Given the description of an element on the screen output the (x, y) to click on. 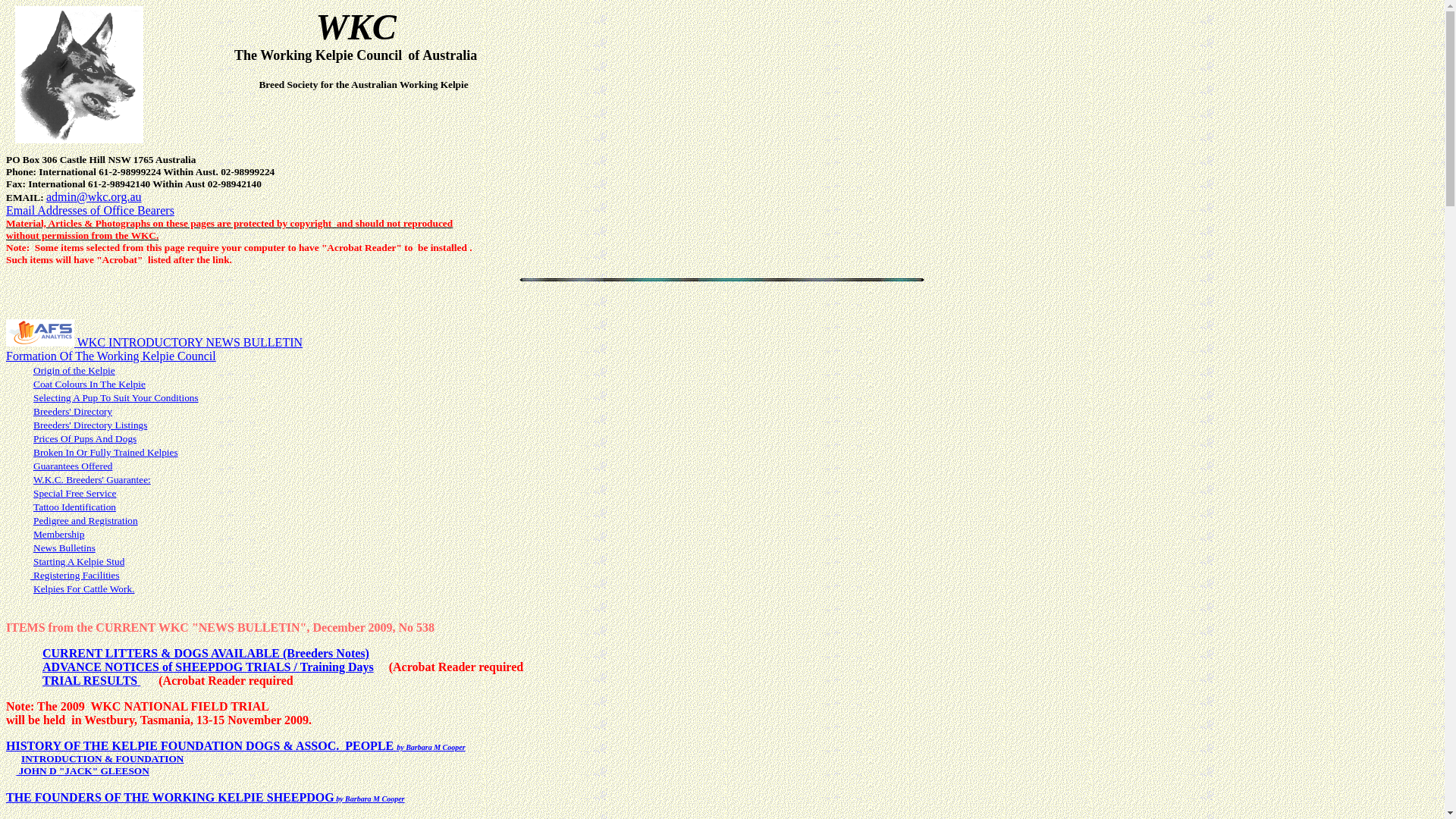
TRIAL RESULTS Element type: text (89, 680)
INTRODUCTION & FOUNDATION Element type: text (102, 758)
Formation Of The Working Kelpie Council Element type: text (111, 355)
  Element type: text (138, 680)
Pedigree and Registration Element type: text (85, 519)
Coat Colours In The Kelpie Element type: text (89, 382)
HISTORY OF THE KELPIE FOUNDATION DOGS & ASSOC.  PEOPLE Element type: text (201, 745)
Selecting A Pup To Suit Your Conditions Element type: text (115, 396)
Origin of the Kelpie Element type: text (74, 369)
Guarantees Offered Element type: text (72, 464)
WKC INTRODUCTORY NEWS BULLETIN Element type: text (188, 341)
Email Addresses of Office Bearers Element type: text (90, 209)
Prices Of Pups And Dogs Element type: text (84, 437)
Breeders' Directory Element type: text (72, 410)
Tattoo Identification Element type: text (74, 505)
News Bulletins Element type: text (64, 546)
admin@wkc.org.au Element type: text (93, 196)
W.K.C. Breeders' Guarantee: Element type: text (91, 478)
ADVANCE NOTICES of SHEEPDOG TRIALS / Training Days Element type: text (207, 666)
Registering Facilities Element type: text (74, 573)
CURRENT LITTERS & DOGS AVAILABLE (Breeders Notes) Element type: text (205, 652)
Starting A Kelpie Stud Element type: text (78, 560)
by Barbara M Cooper Element type: text (430, 747)
JOHN D "JACK" GLEESON Element type: text (82, 770)
Special Free Service Element type: text (74, 492)
Membership Element type: text (58, 533)
Broken In Or Fully Trained Kelpies Element type: text (105, 451)
Kelpies For Cattle Work. Element type: text (83, 587)
Breeders' Directory Listings Element type: text (90, 423)
